Given the description of an element on the screen output the (x, y) to click on. 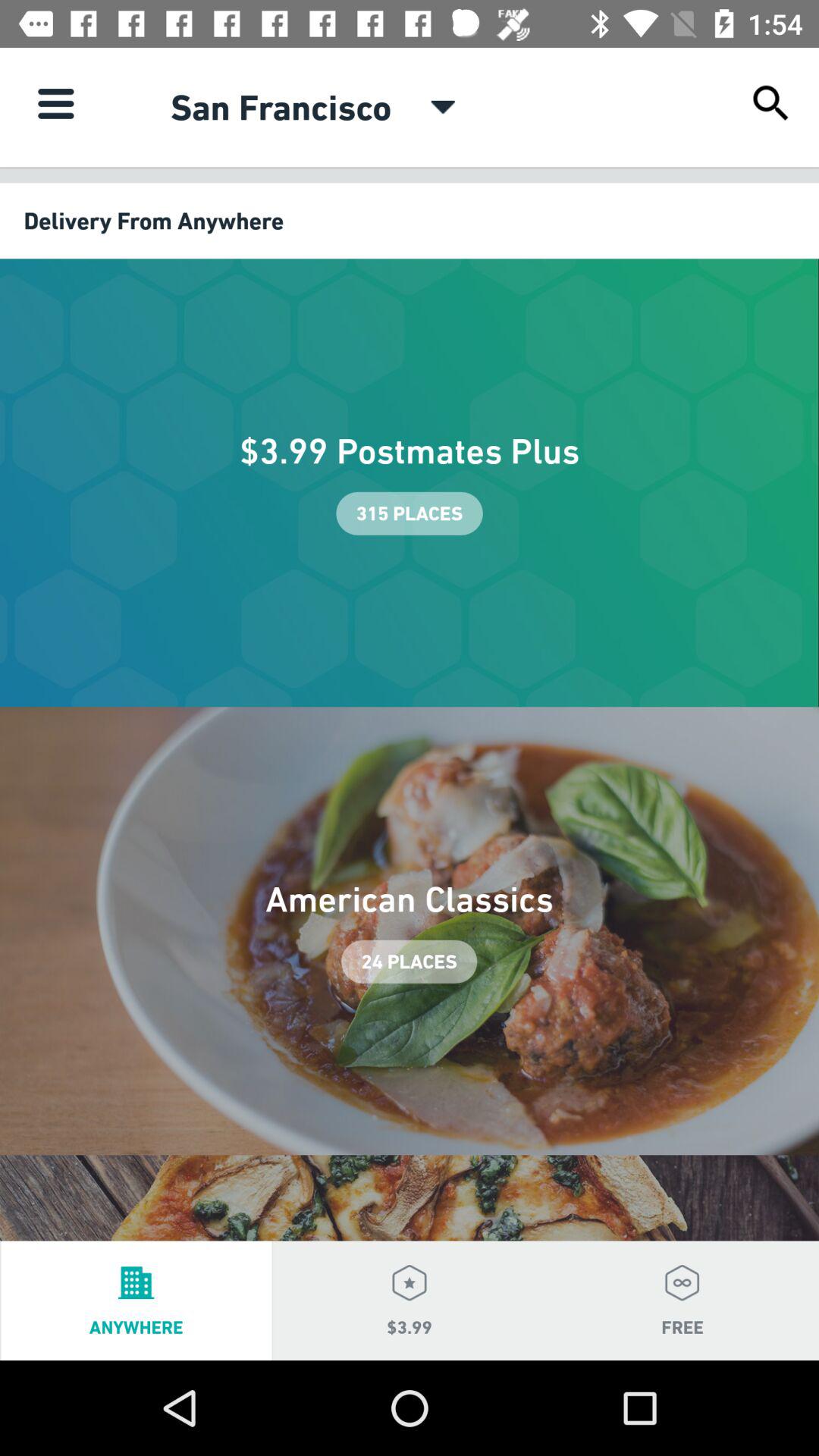
launch the item to the left of the san francisco icon (55, 103)
